Given the description of an element on the screen output the (x, y) to click on. 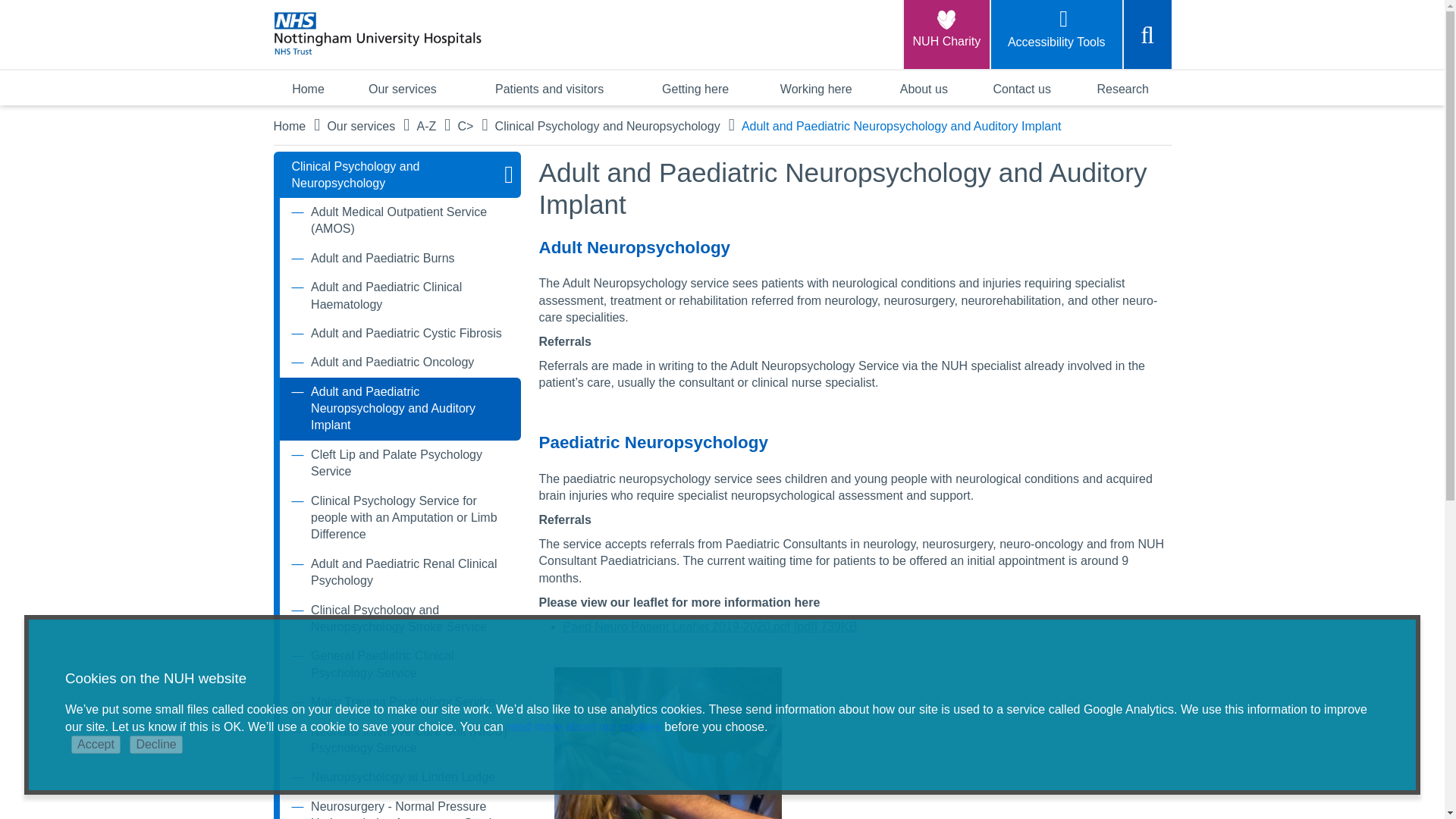
Patients and visitors (549, 87)
Decline (155, 744)
Home (307, 87)
Accept (95, 744)
Accessibility Tools (1054, 34)
Our services (401, 87)
download this document in a new window (709, 626)
NUH Charity (945, 34)
